Given the description of an element on the screen output the (x, y) to click on. 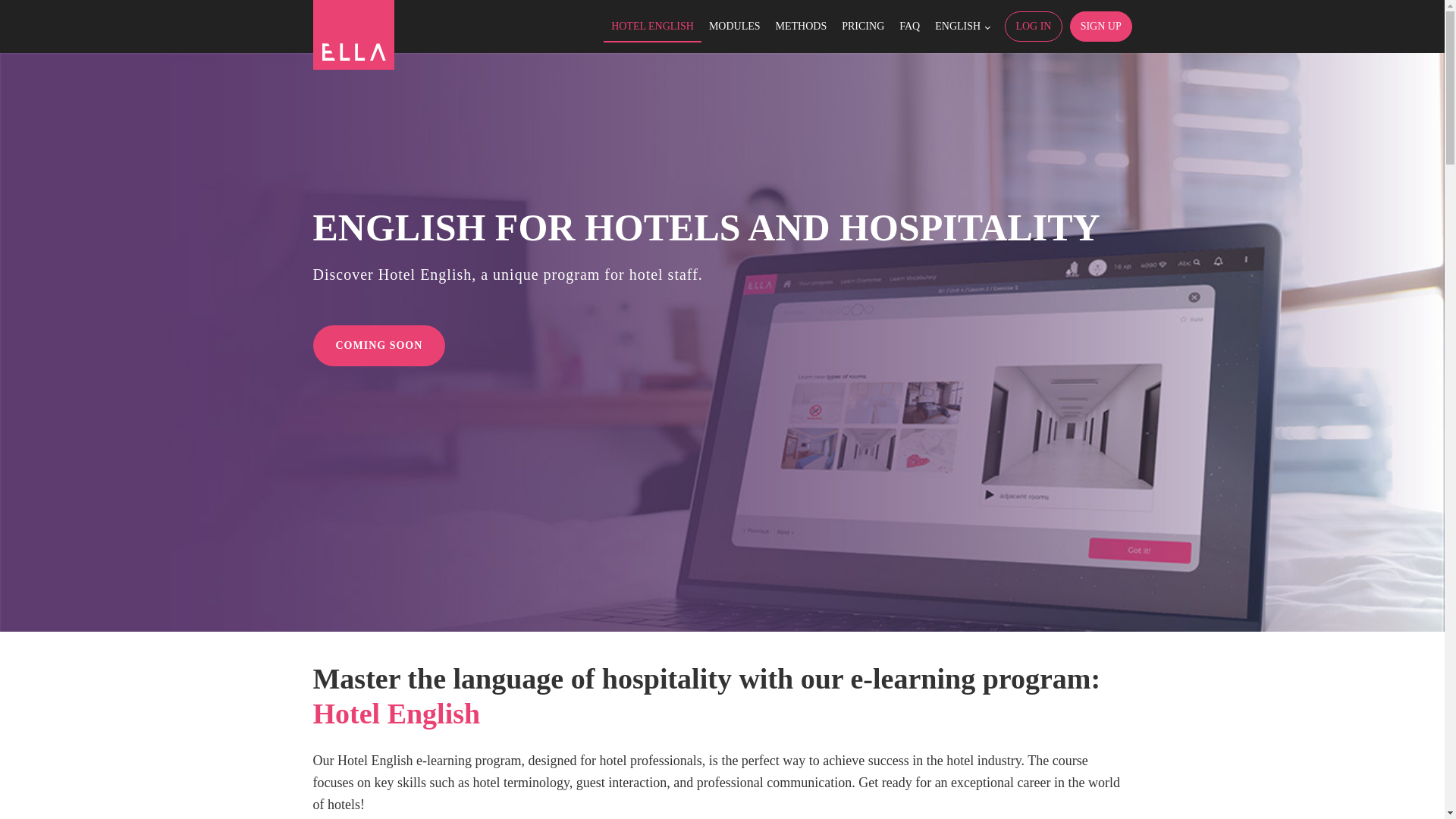
SIGN UP (1101, 26)
HOTEL ENGLISH (652, 26)
LOG IN (1033, 26)
ENGLISH (962, 26)
FAQ (909, 26)
MODULES (734, 26)
PRICING (862, 26)
METHODS (801, 26)
